Given the description of an element on the screen output the (x, y) to click on. 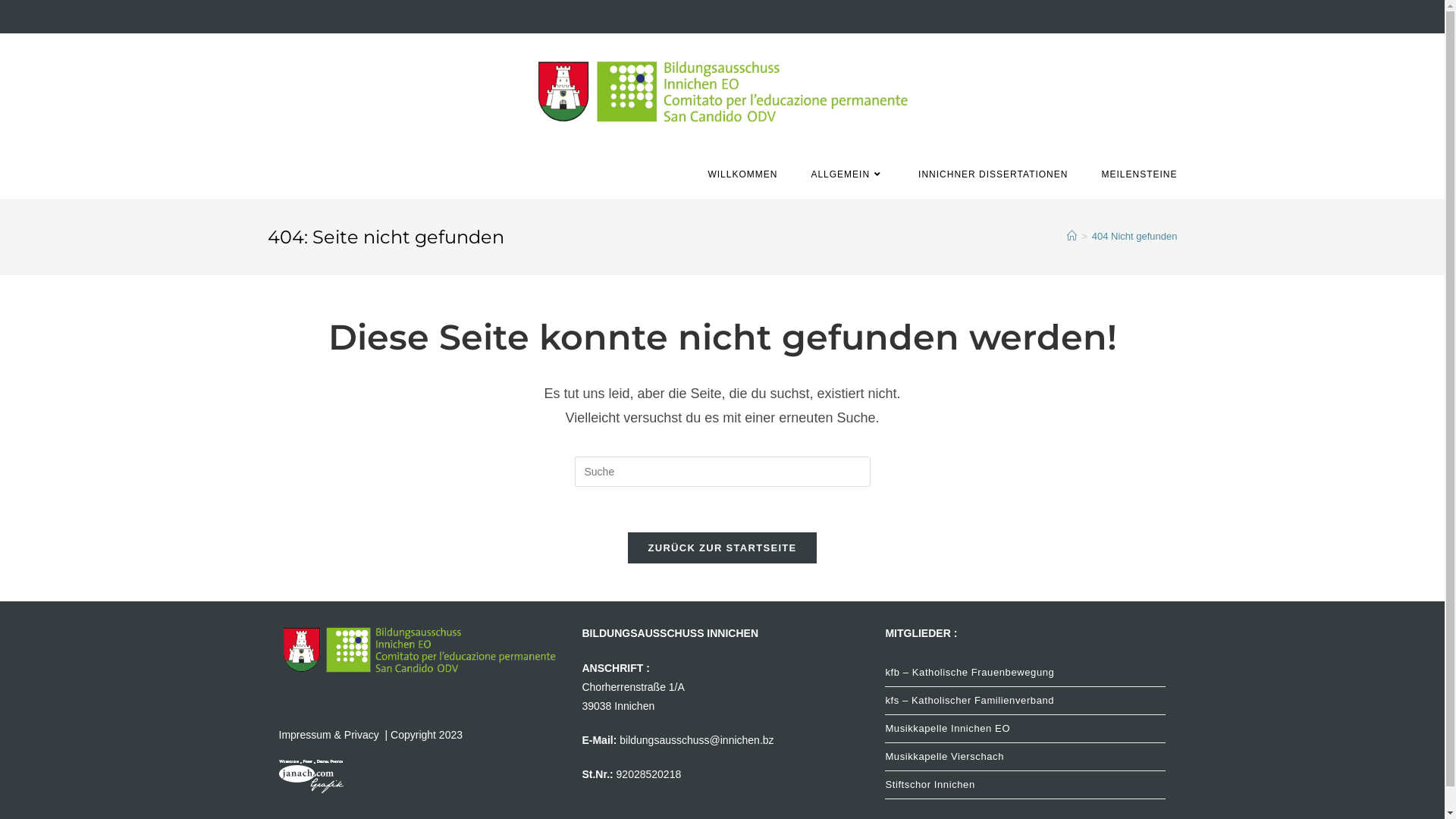
MEILENSTEINE Element type: text (1138, 174)
ALLGEMEIN Element type: text (847, 174)
Stiftschor Innichen Element type: text (1024, 784)
WILLKOMMEN Element type: text (741, 174)
bildungsausschuss@innichen.bz Element type: text (696, 740)
Musikkapelle Innichen EO Element type: text (1024, 728)
INNICHNER DISSERTATIONEN Element type: text (992, 174)
Musikkapelle Vierschach Element type: text (1024, 756)
Impressum & Privacy  Element type: text (330, 734)
404 Nicht gefunden Element type: text (1134, 235)
